Given the description of an element on the screen output the (x, y) to click on. 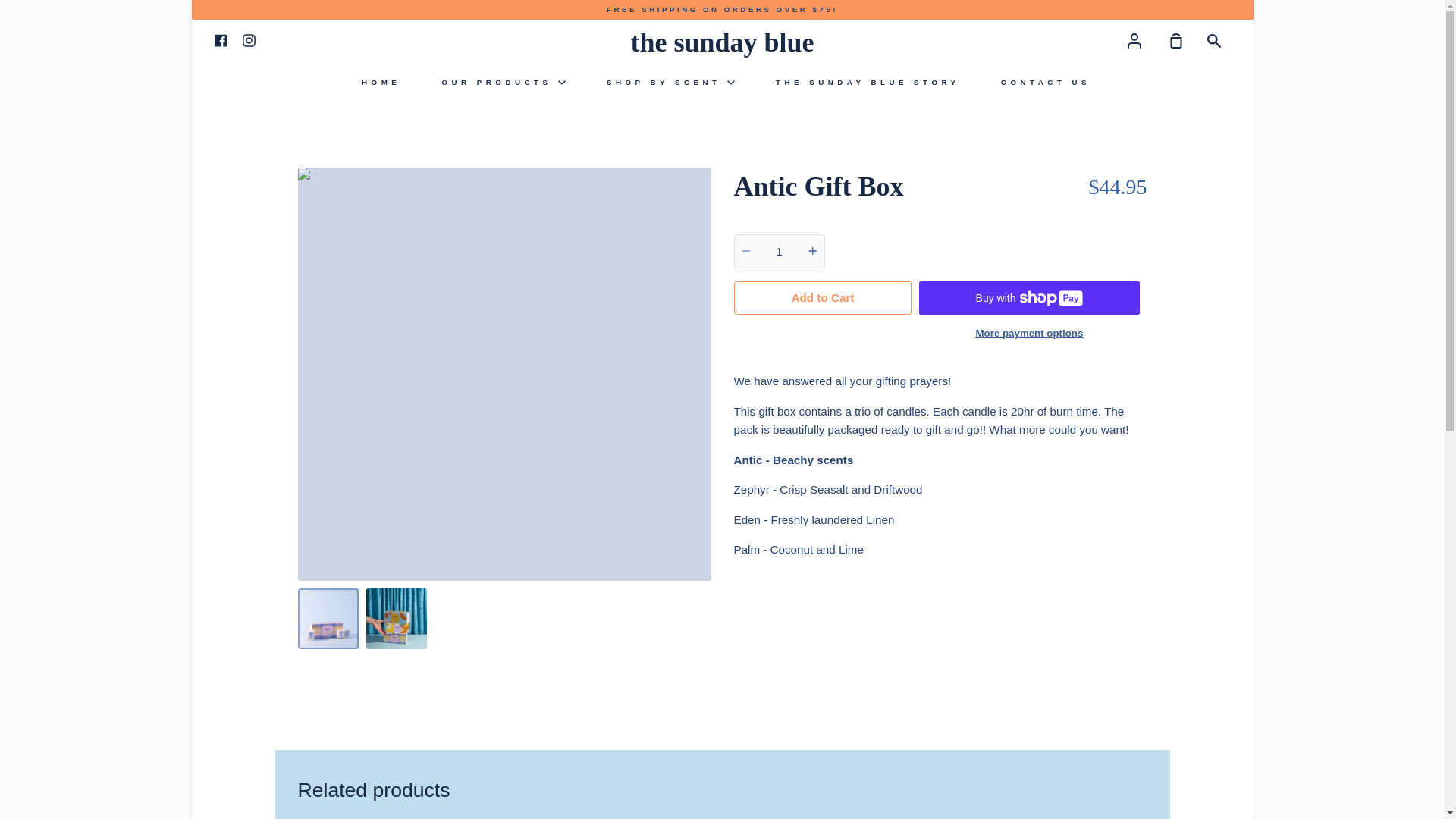
the sunday blue on Instagram (249, 39)
Facebook (220, 39)
the sunday blue (721, 42)
the sunday blue on Facebook (220, 39)
1 (779, 251)
SHOP BY SCENT (670, 82)
Instagram (249, 39)
HOME (381, 82)
OUR PRODUCTS (503, 82)
THE SUNDAY BLUE STORY (867, 82)
